Given the description of an element on the screen output the (x, y) to click on. 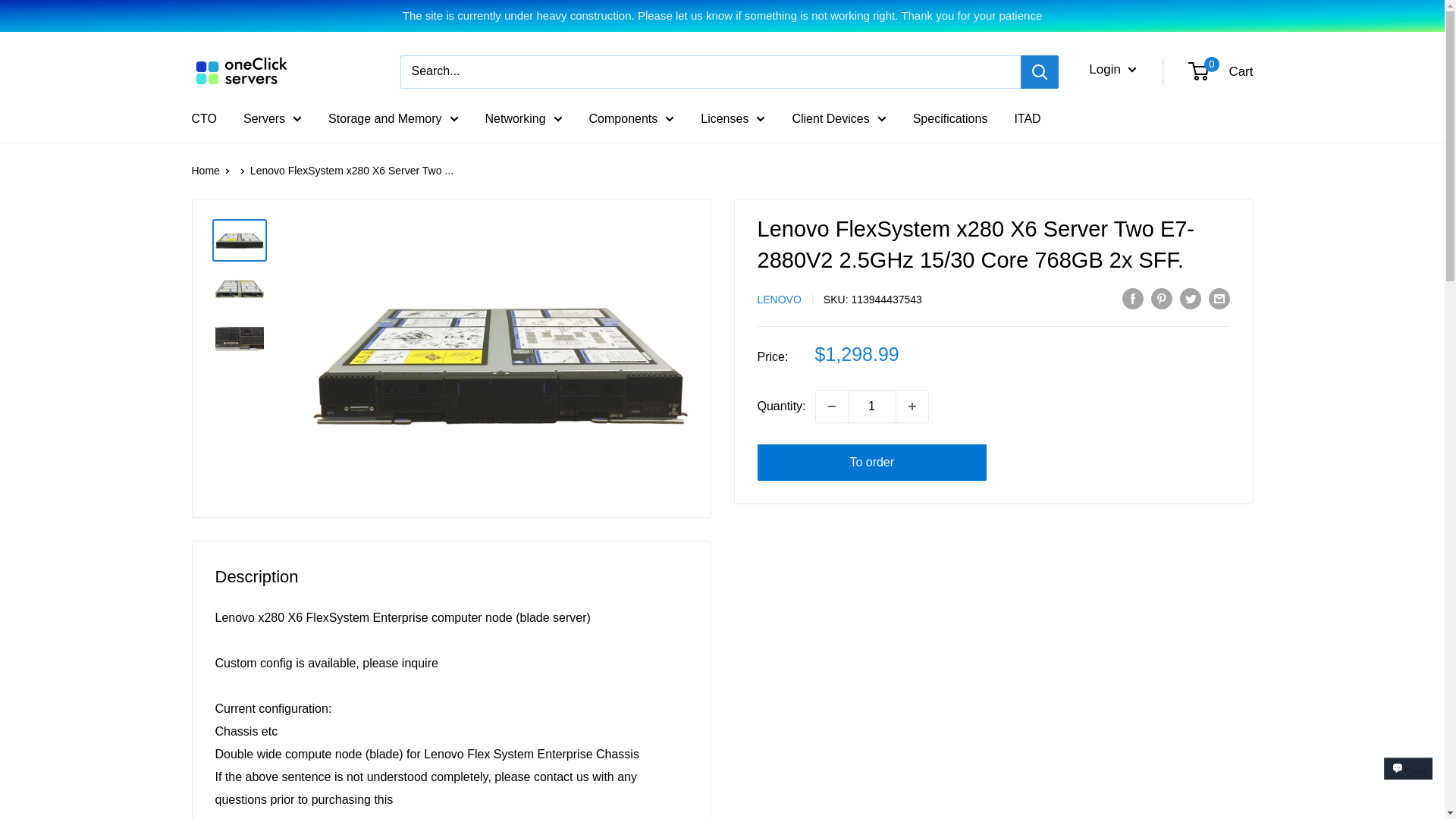
Shopify online store chat (1408, 781)
Increase quantity by 1 (912, 406)
1 (871, 406)
Decrease quantity by 1 (831, 406)
